Given the description of an element on the screen output the (x, y) to click on. 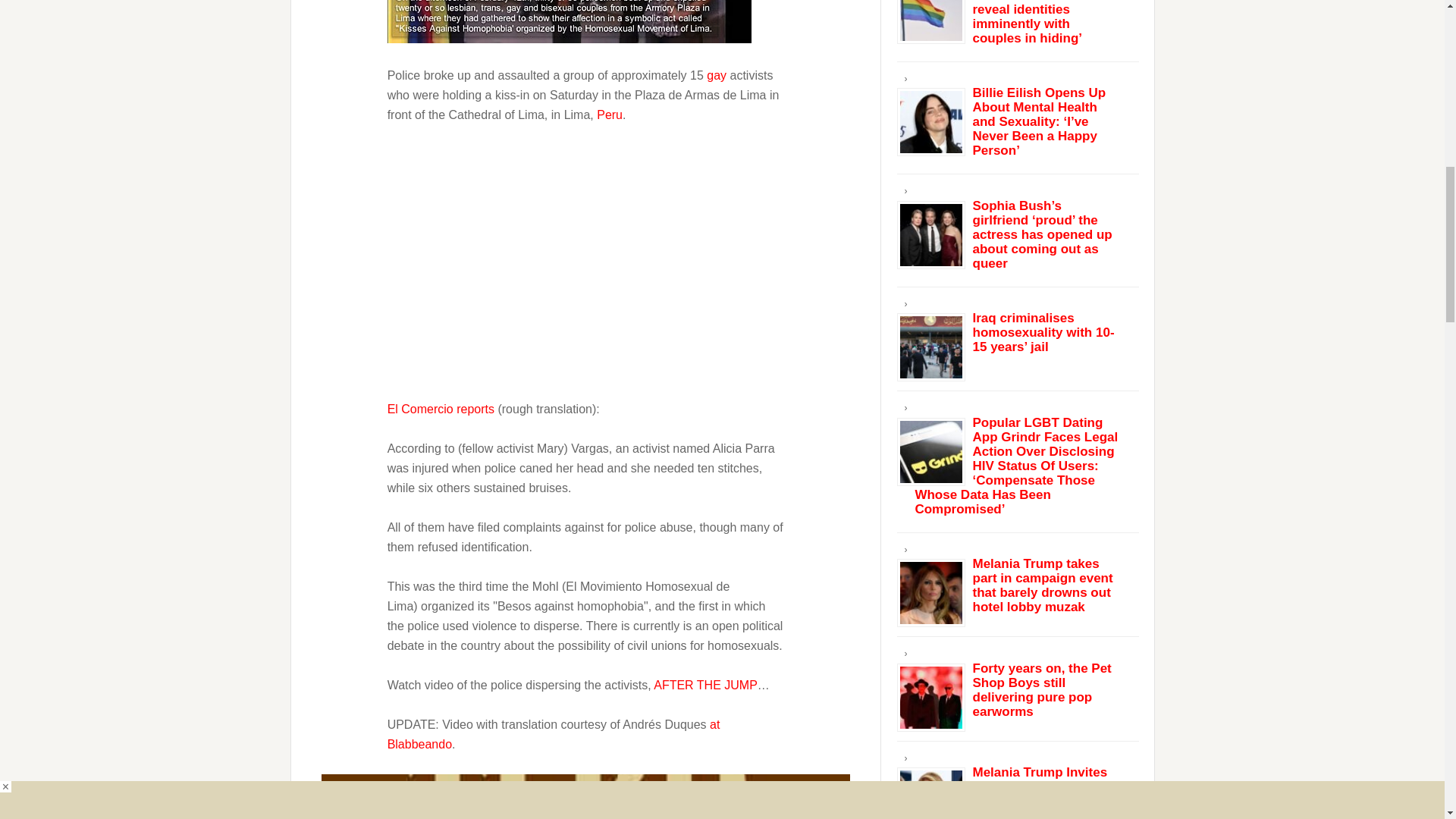
AFTER THE JUMP (705, 684)
at Blabbeando (553, 733)
Posts tagged with Peru (609, 113)
Peru (569, 21)
El Comercio reports (442, 408)
Peru (609, 113)
Posts tagged with Gay (716, 74)
gay (716, 74)
